Given the description of an element on the screen output the (x, y) to click on. 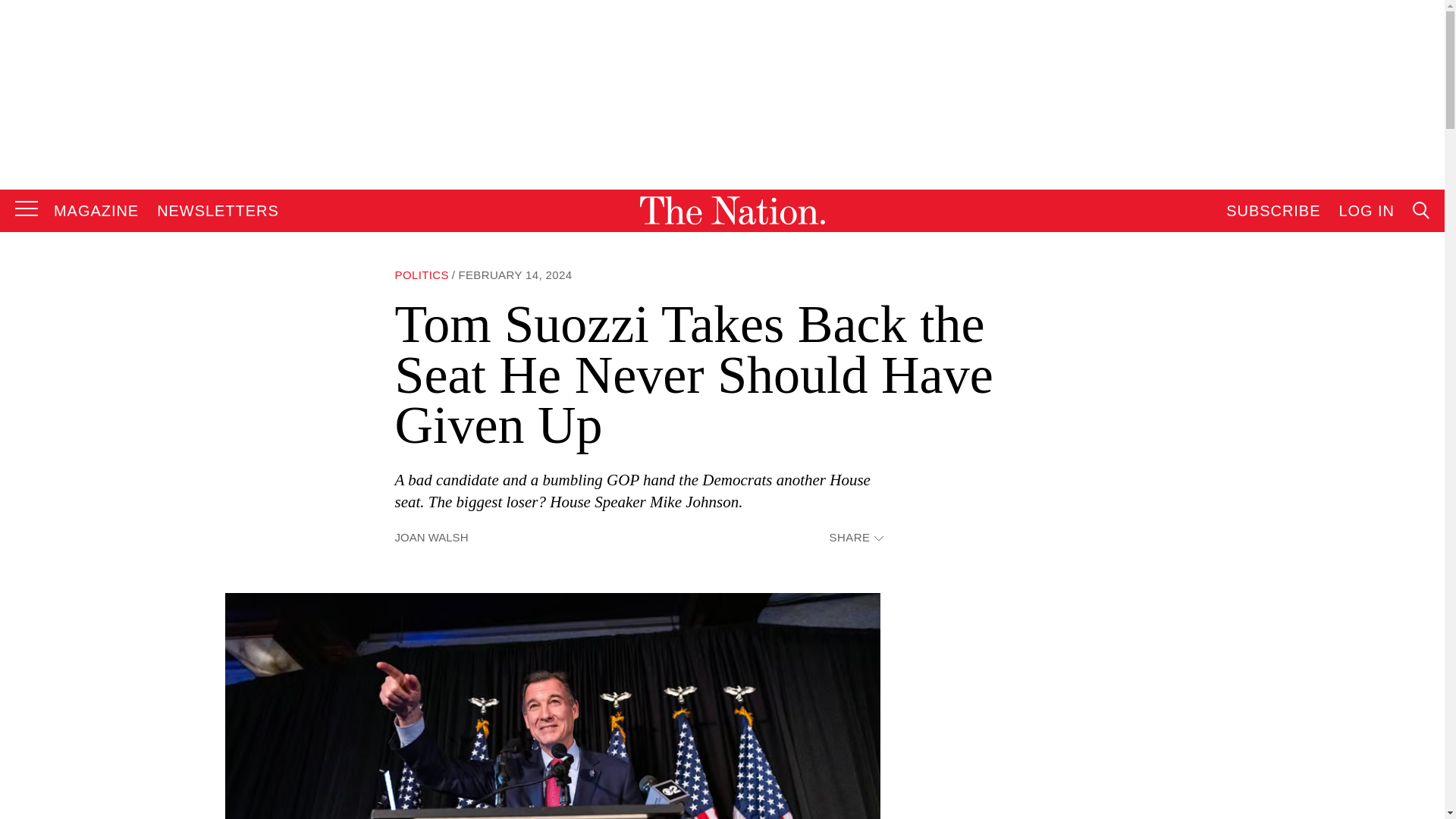
POLITICS (421, 274)
SHARE (855, 537)
SUBSCRIBE (1272, 210)
JOAN WALSH (430, 536)
Search (1278, 364)
MAGAZINE (95, 210)
LOG IN (1366, 210)
NEWSLETTERS (218, 210)
